Given the description of an element on the screen output the (x, y) to click on. 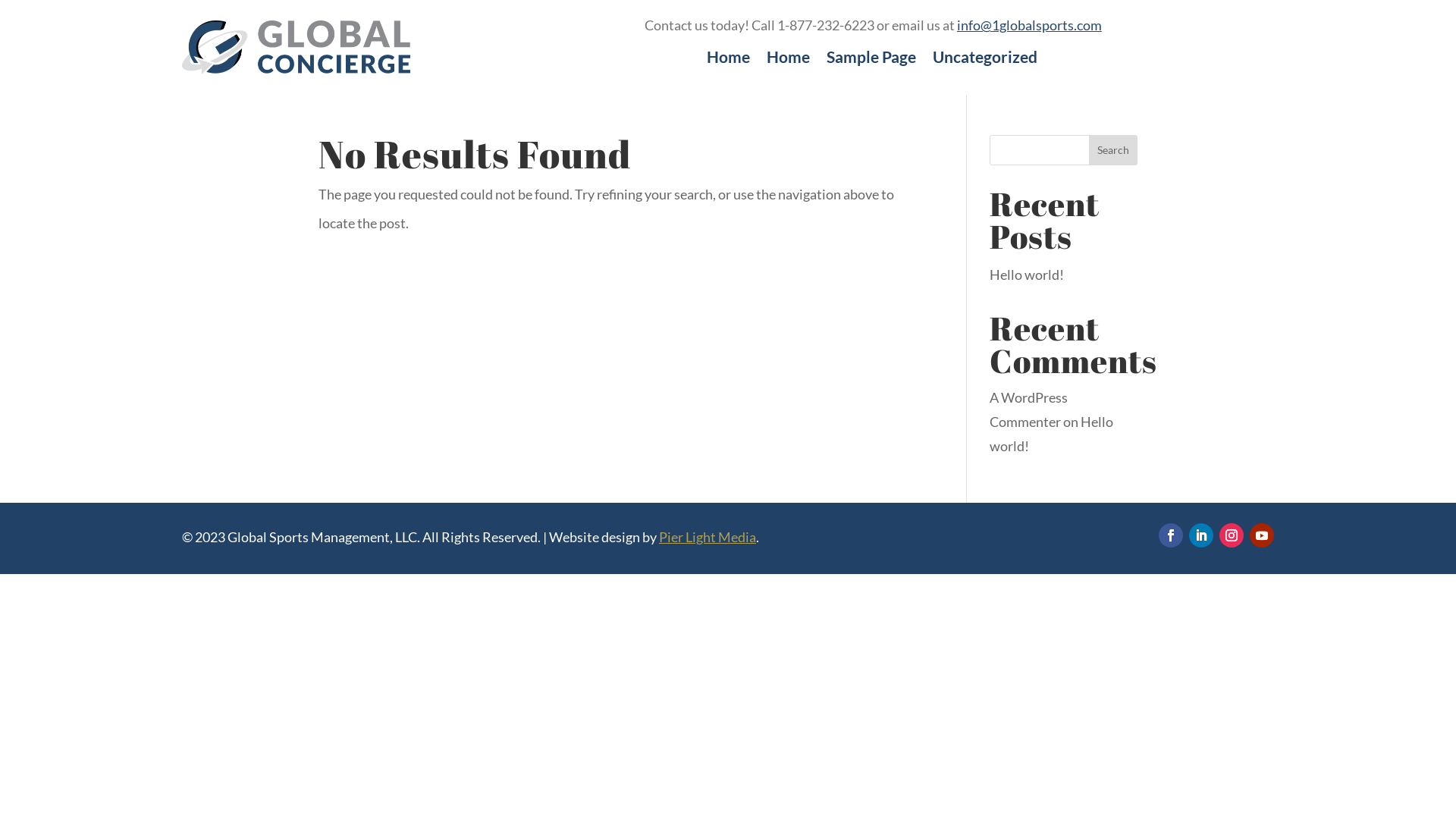
Sample Page Element type: text (871, 59)
info@1globalsports.com Element type: text (1029, 24)
Follow on Instagram Element type: hover (1231, 535)
Hello world! Element type: text (1026, 274)
Home Element type: text (727, 59)
Follow on Facebook Element type: hover (1170, 535)
Follow on LinkedIn Element type: hover (1201, 535)
Hello world! Element type: text (1051, 433)
Uncategorized Element type: text (984, 59)
Pier Light Media Element type: text (707, 536)
Search Element type: text (1112, 149)
Follow on Youtube Element type: hover (1261, 535)
Home Element type: text (787, 59)
A WordPress Commenter Element type: text (1028, 409)
Globalconcierge-logoH Element type: hover (296, 47)
